Given the description of an element on the screen output the (x, y) to click on. 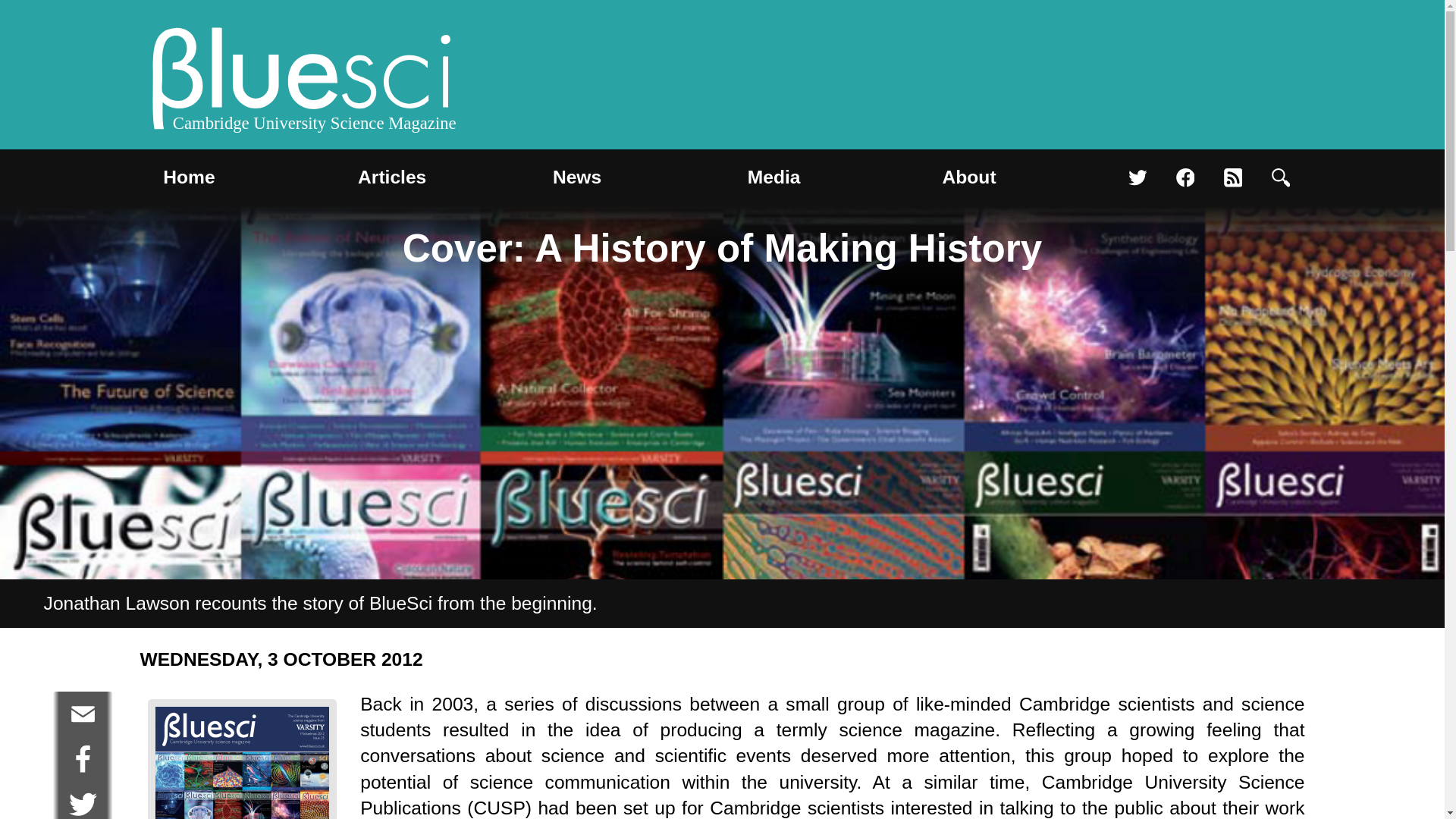
About (969, 177)
Articles (391, 177)
Issue25Cover (242, 762)
Cambridge University Science Magazine (301, 82)
Home (188, 177)
News (576, 177)
Cambridge University Science Magazine (301, 82)
